Given the description of an element on the screen output the (x, y) to click on. 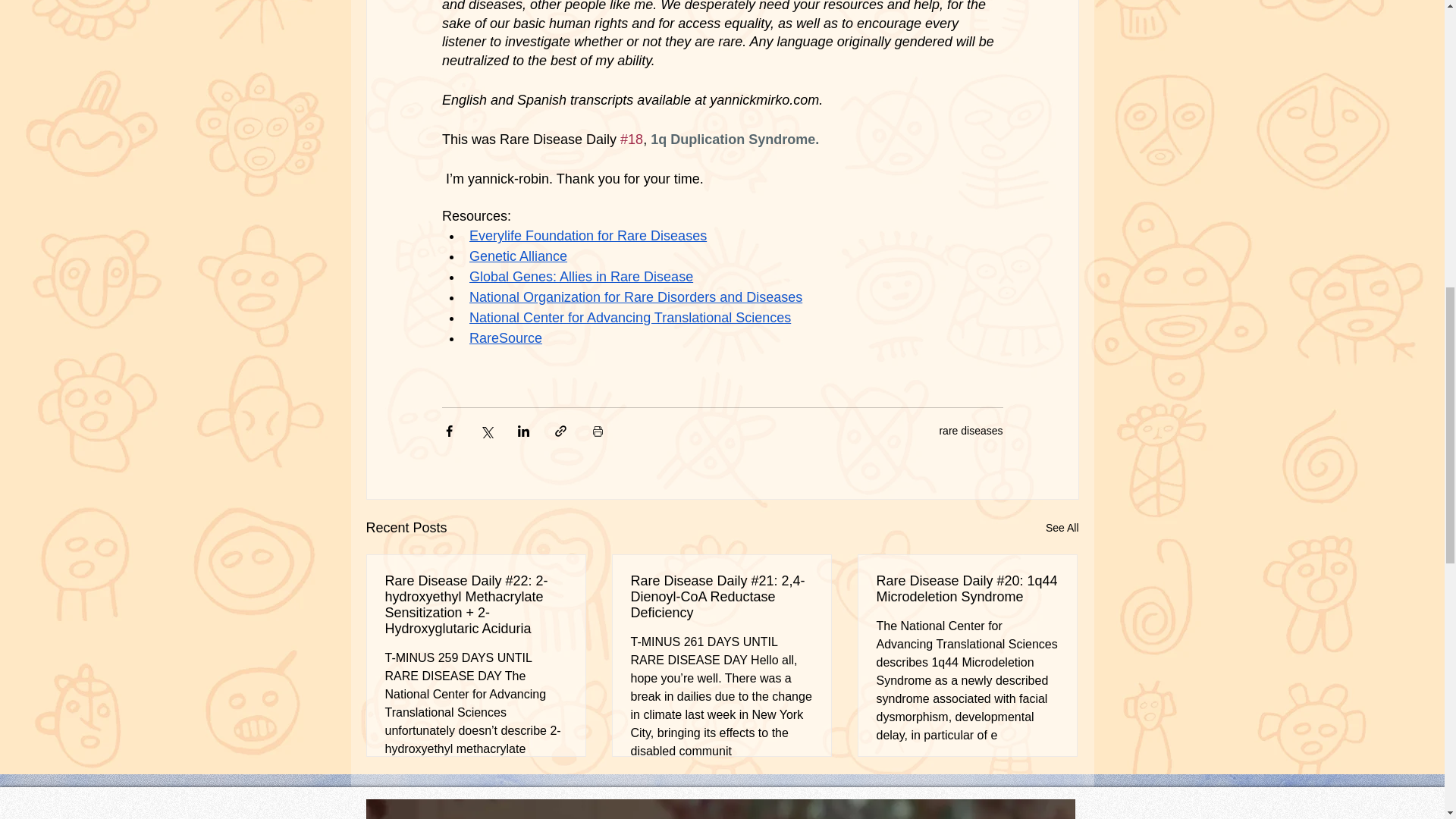
rare diseases (971, 430)
National Organization for Rare Disorders and Diseases (635, 296)
See All (1061, 527)
Genetic Alliance (517, 255)
Global Genes: Allies in Rare Disease (580, 276)
RareSource (504, 337)
Everylife Foundation for Rare Diseases (587, 235)
National Center for Advancing Translational Sciences (629, 317)
